Given the description of an element on the screen output the (x, y) to click on. 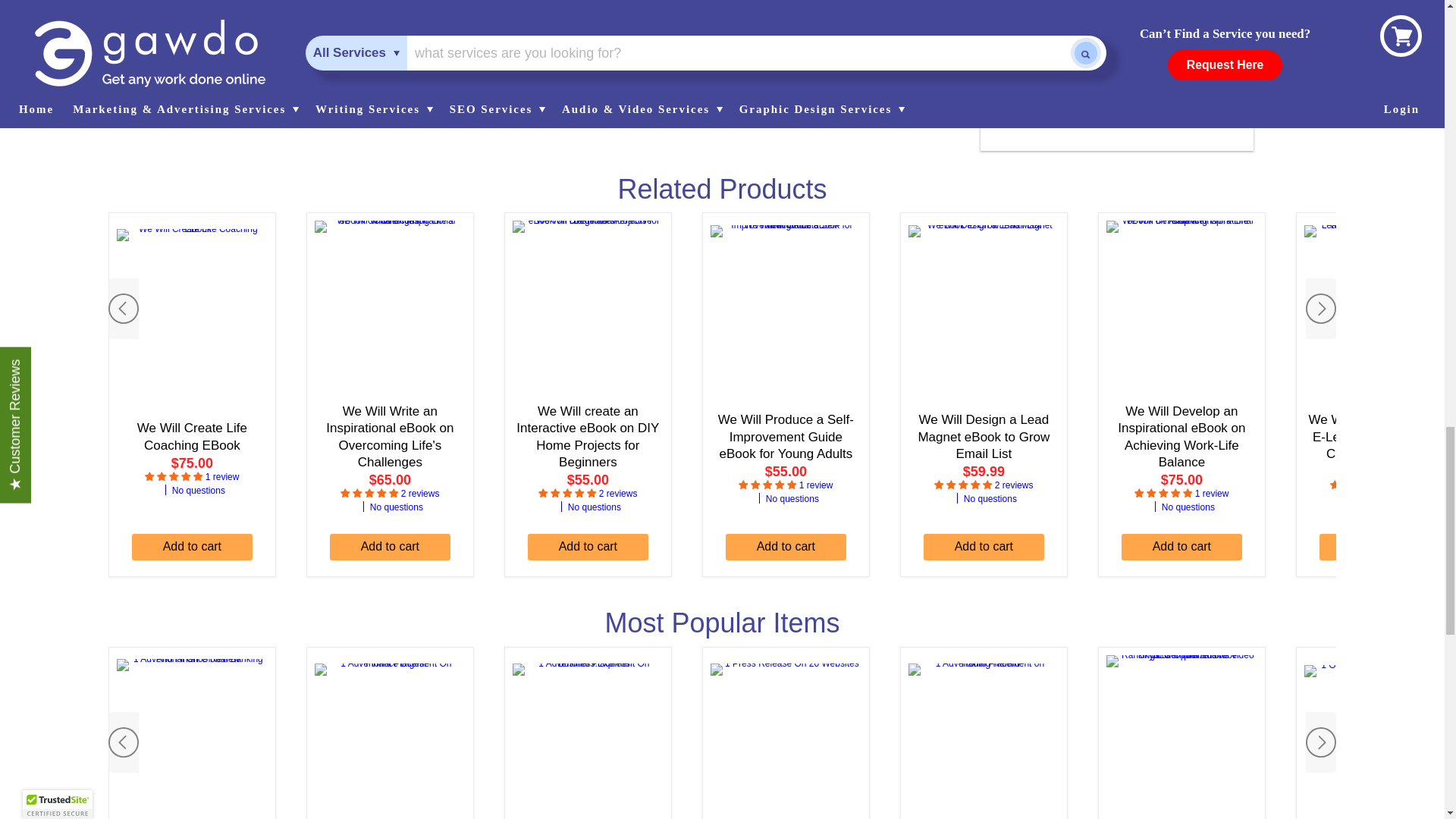
Pinterest (482, 96)
down (786, 96)
Facebook (409, 96)
Twitter (433, 96)
LinkedIn (457, 96)
up (747, 96)
